Given the description of an element on the screen output the (x, y) to click on. 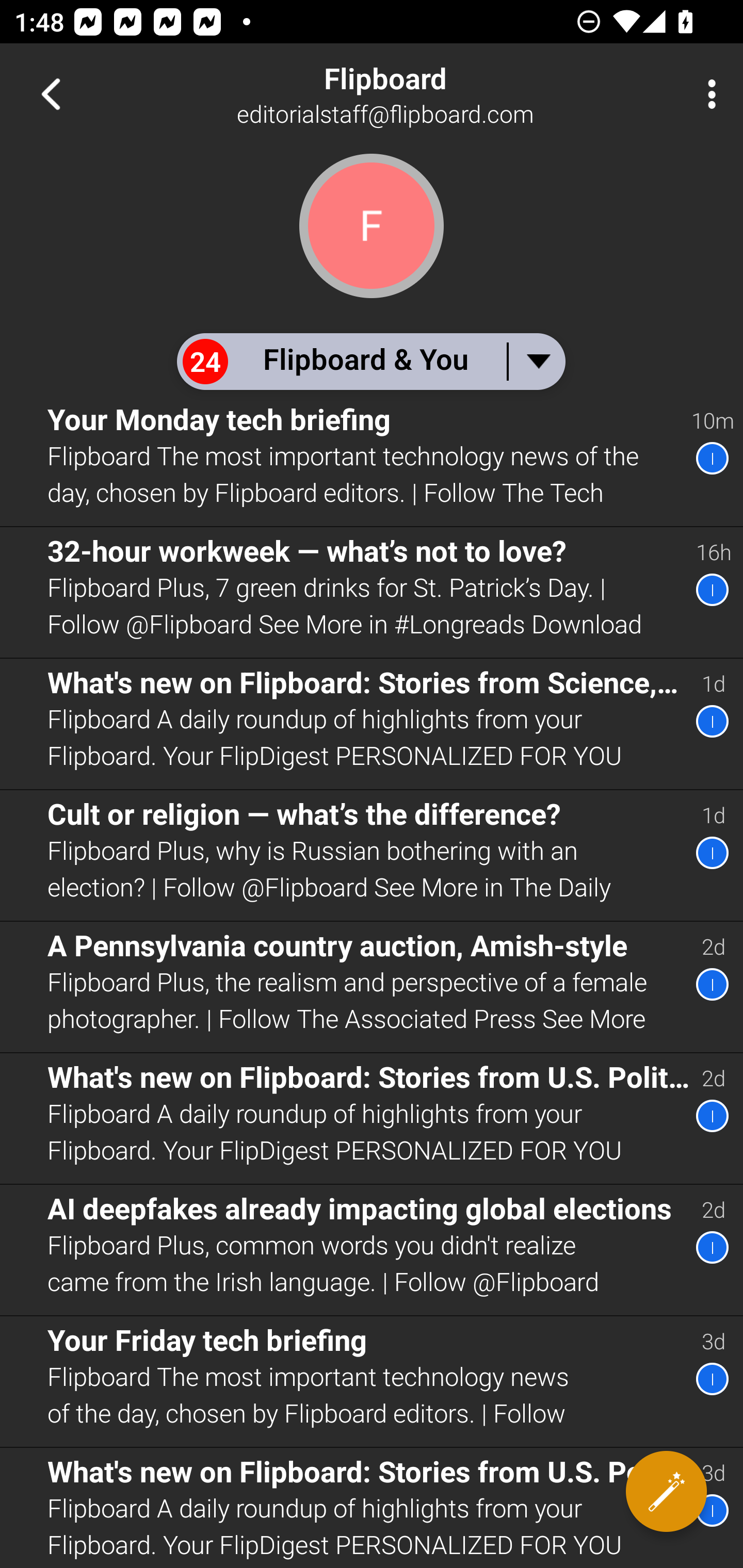
Navigate up (50, 93)
Flipboard editorialstaff@flipboard.com (436, 93)
More Options (706, 93)
24 Flipboard & You (370, 361)
